Given the description of an element on the screen output the (x, y) to click on. 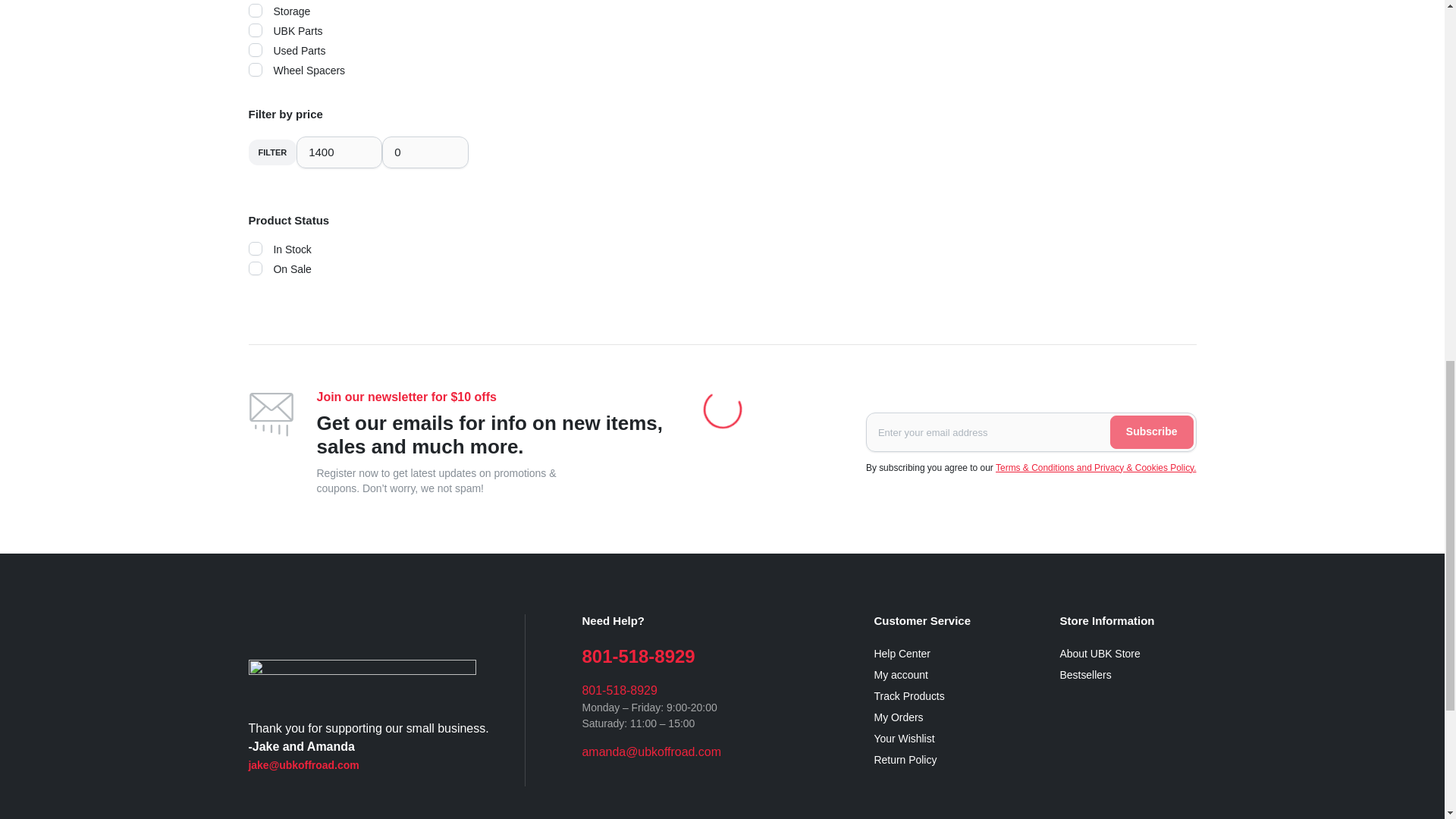
0 (424, 152)
1400 (339, 152)
